Given the description of an element on the screen output the (x, y) to click on. 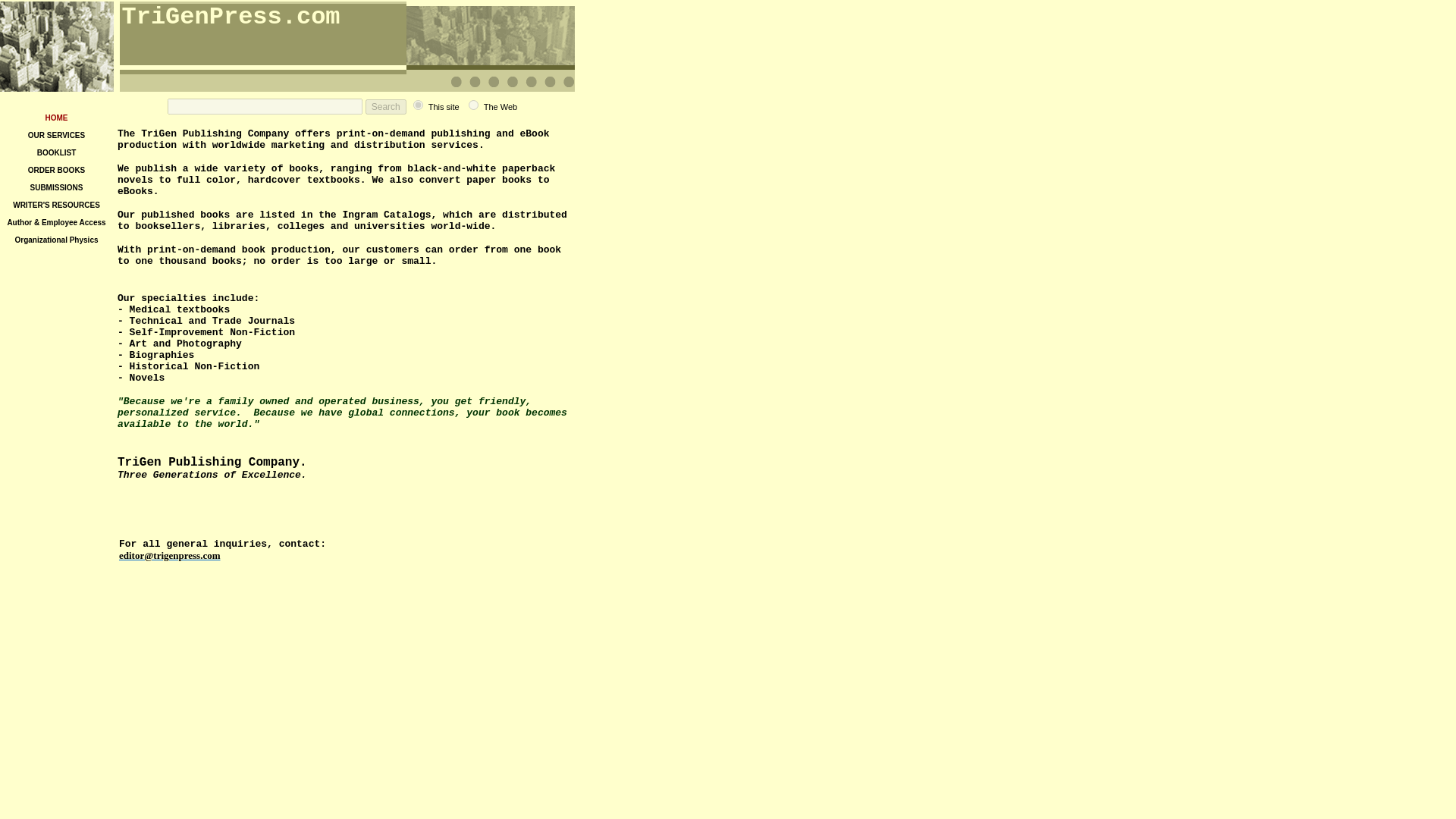
ORDER BOOKS (56, 168)
Search (385, 106)
SUBMISSIONS (55, 185)
HOME (56, 115)
BOOKLIST (57, 151)
site (418, 104)
www (473, 104)
Search (385, 106)
Organizational Physics (55, 237)
OUR SERVICES (55, 133)
